Given the description of an element on the screen output the (x, y) to click on. 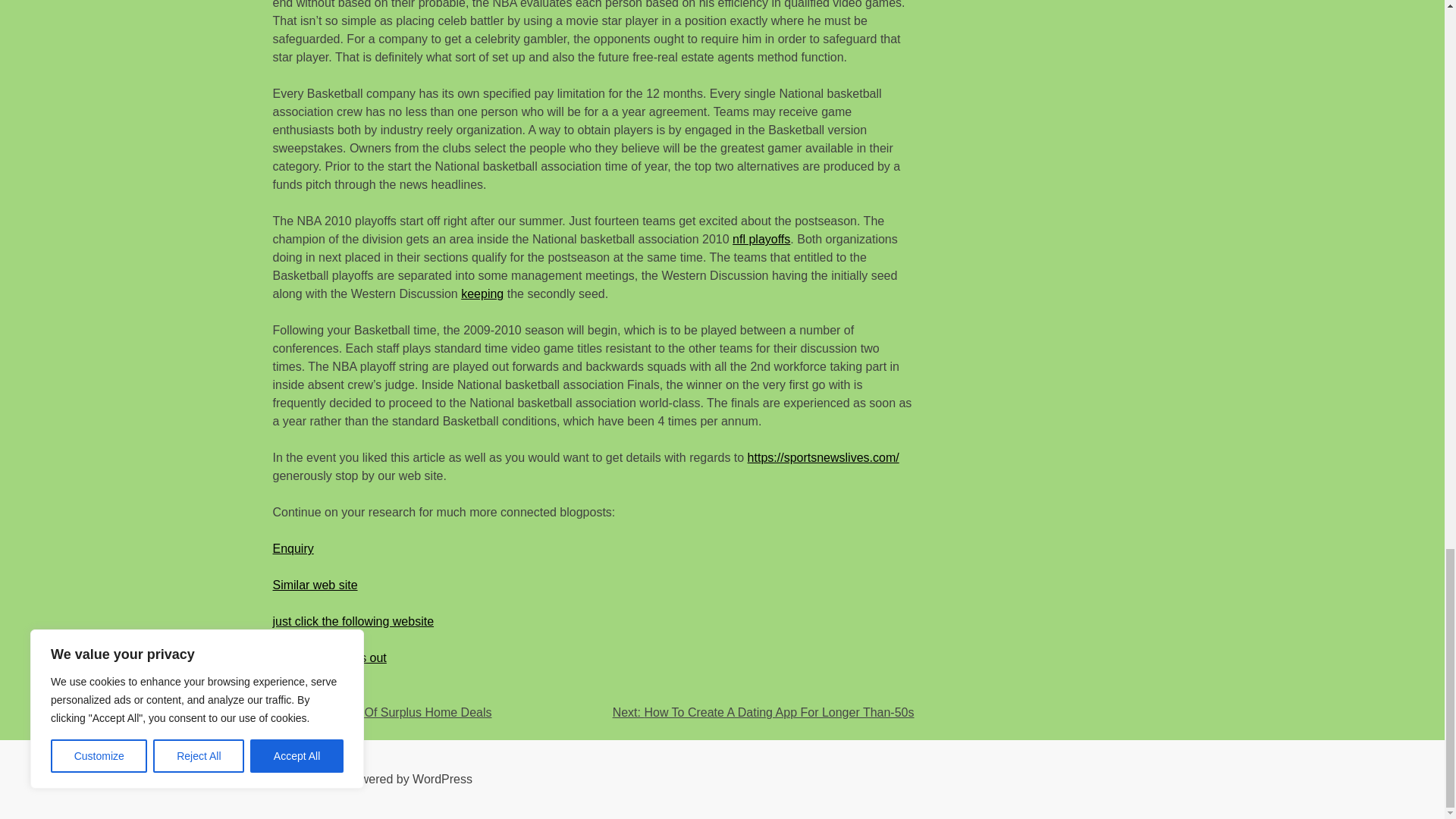
Deals (320, 694)
keeping (482, 293)
just click the following website (353, 621)
Similar web site (315, 584)
check these guys out (330, 657)
nfl playoffs (761, 238)
Previous: Forms Of Surplus Home Deals (382, 712)
Next: How To Create A Dating App For Longer Than-50s (763, 712)
Enquiry (293, 548)
